Given the description of an element on the screen output the (x, y) to click on. 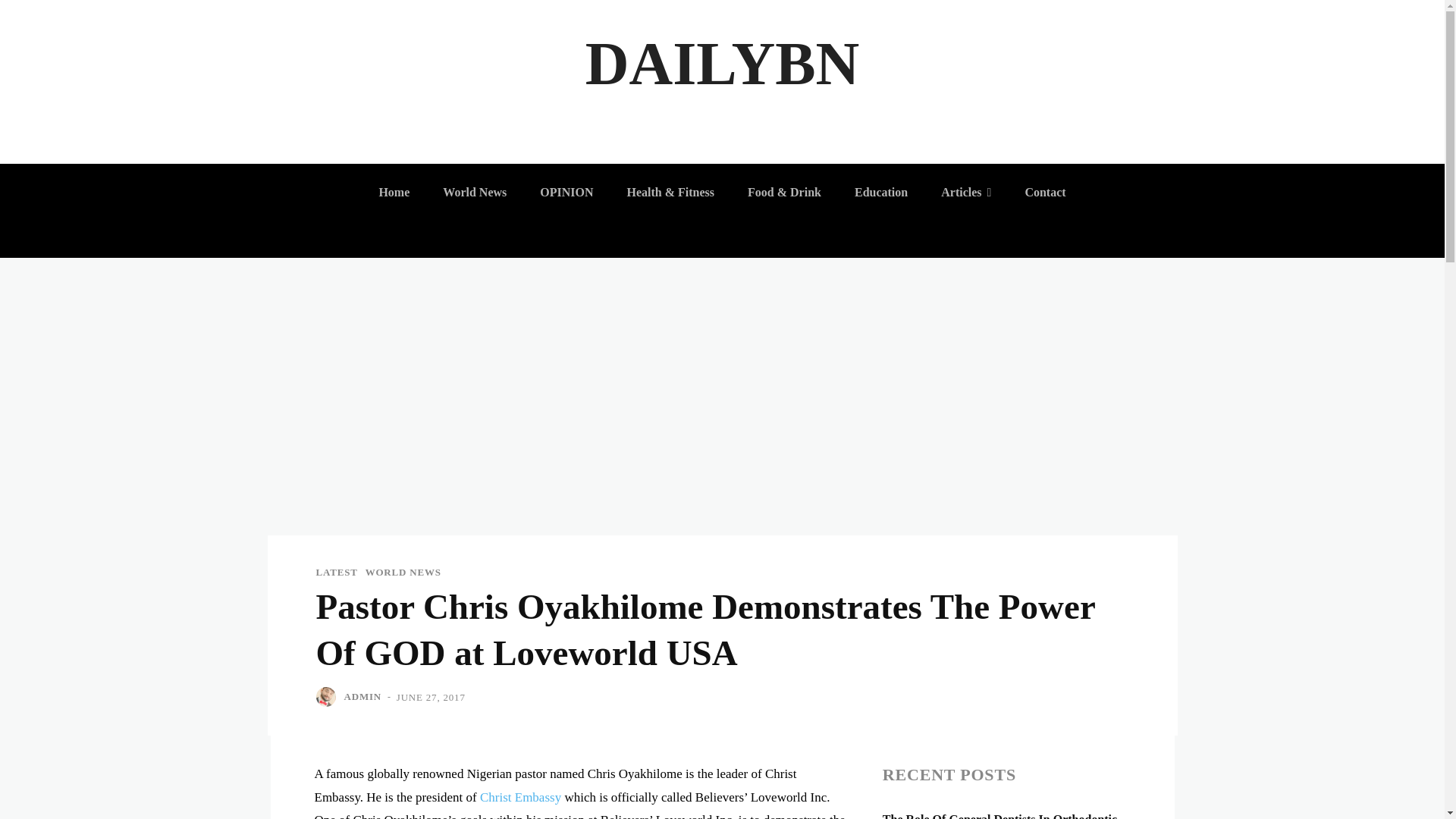
Admin (327, 696)
OPINION (566, 192)
World News (474, 192)
WORLD NEWS (403, 572)
LATEST (335, 572)
ADMIN (362, 696)
Contact (1044, 192)
Education (881, 192)
DAILYBN (722, 63)
The Role Of General Dentists In Orthodontic Treatments (999, 816)
Articles (965, 192)
The Role Of General Dentists In Orthodontic Treatments (999, 816)
Christ Embassy (520, 797)
Home (394, 192)
